Given the description of an element on the screen output the (x, y) to click on. 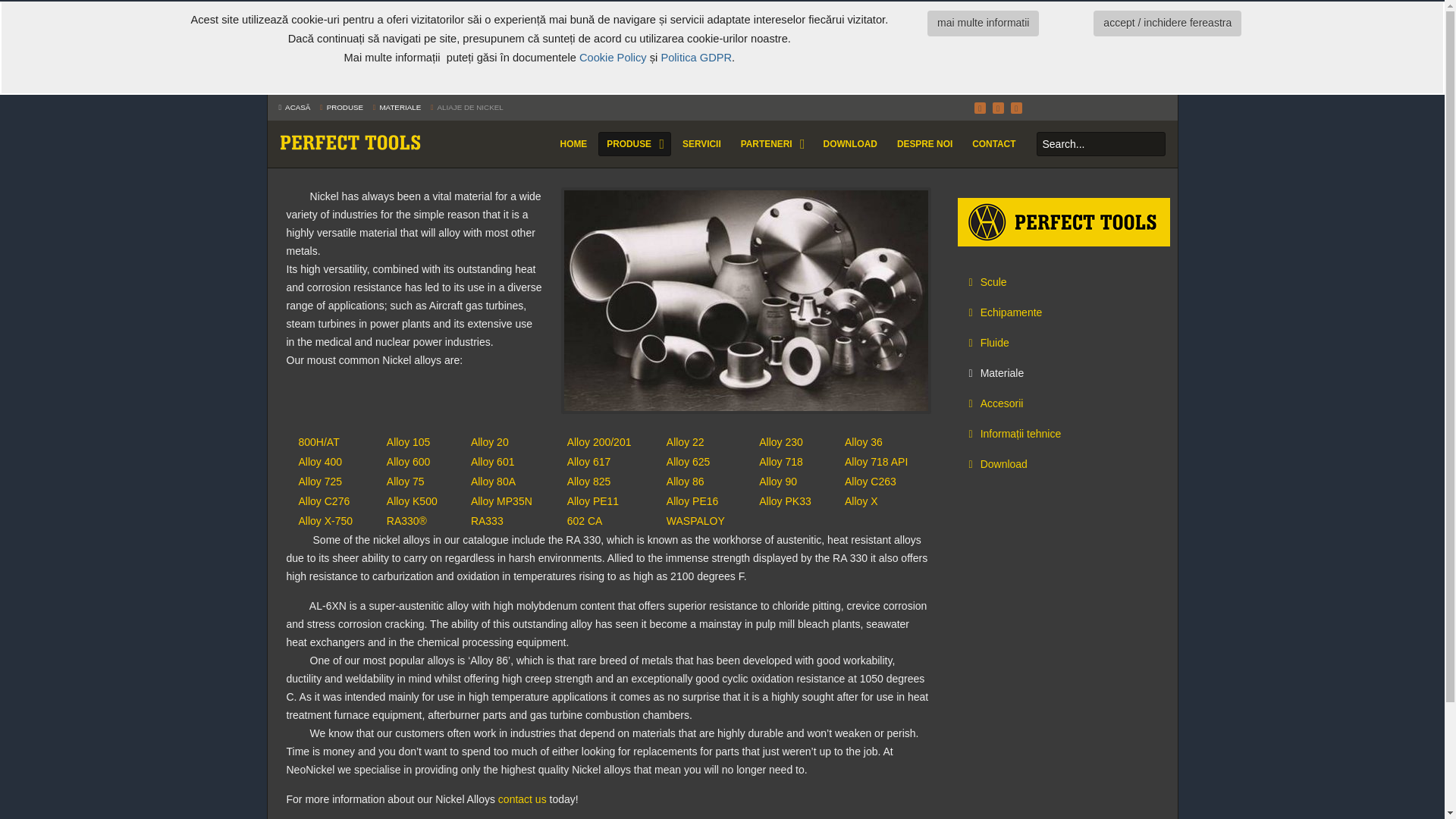
Alloy 20 (489, 441)
HOME (573, 144)
Alloy 230 (780, 441)
Alloy 80A (493, 481)
Alloy 718 API (875, 461)
mai multe informatii (983, 23)
Alloy 400 (319, 461)
Alloy 725 (319, 481)
Cookie Policy (612, 57)
PRODUSE (633, 144)
Alloy 601 (492, 461)
MATERIALE (399, 107)
Alloy 625 (688, 461)
Politica GDPR (696, 57)
Alloy 617 (589, 461)
